Given the description of an element on the screen output the (x, y) to click on. 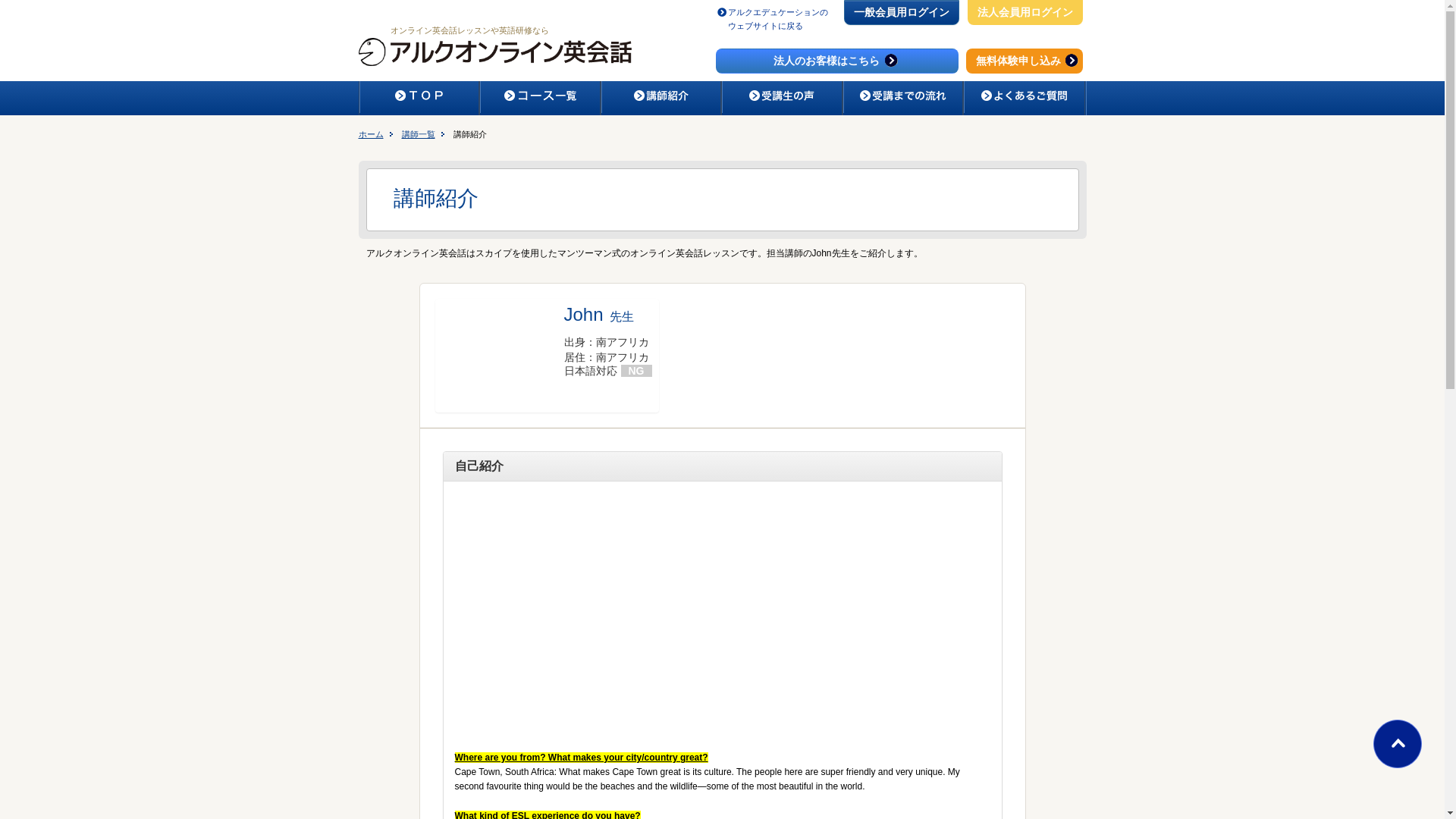
YouTube video player (666, 612)
HOME (419, 97)
